Given the description of an element on the screen output the (x, y) to click on. 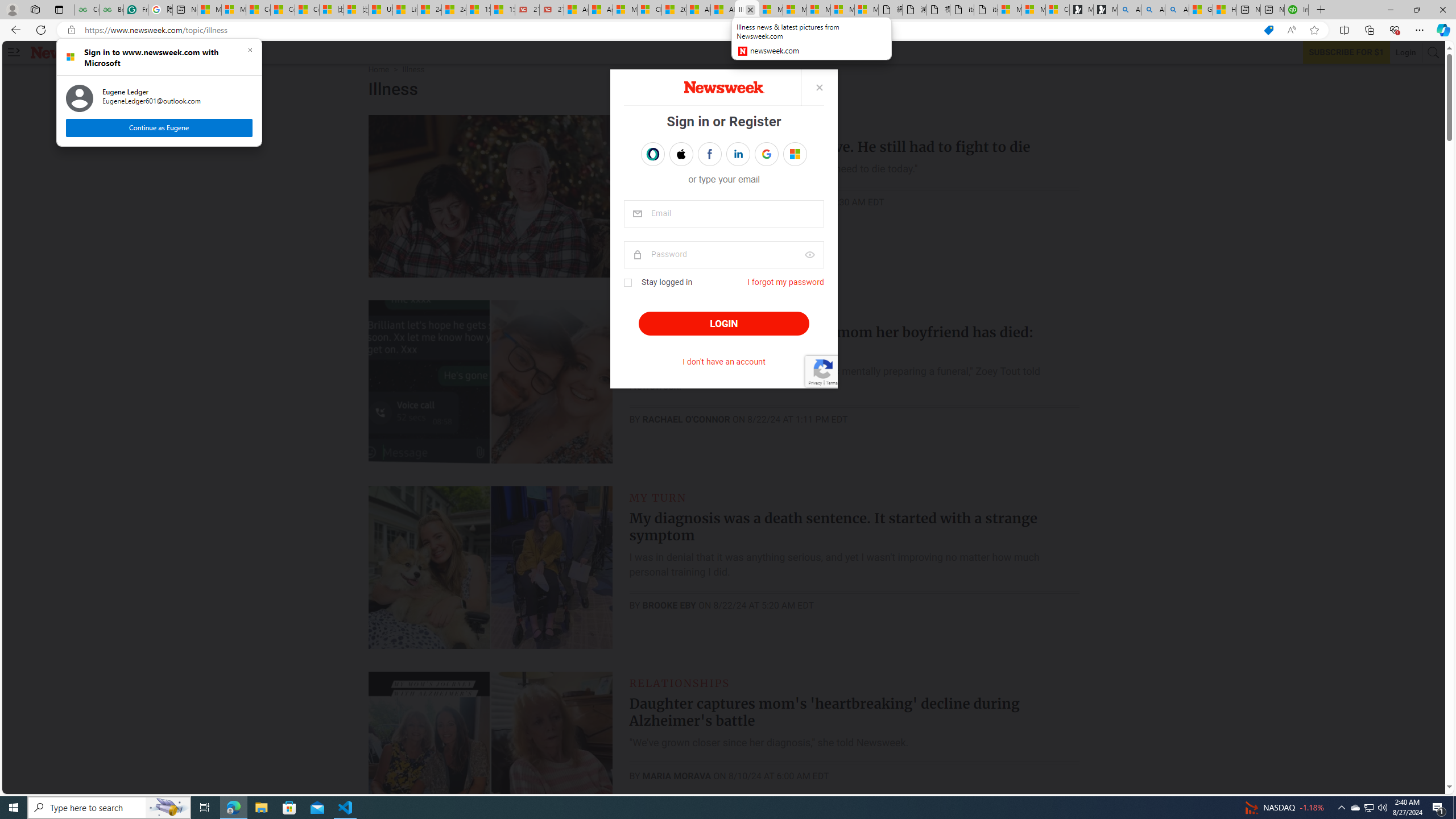
ON THE INTERNET (686, 312)
NASDAQ-1.18% (1283, 807)
password (723, 254)
Consumer Health Data Privacy Policy (1057, 9)
Sign in with FACEBOOK (709, 154)
